Given the description of an element on the screen output the (x, y) to click on. 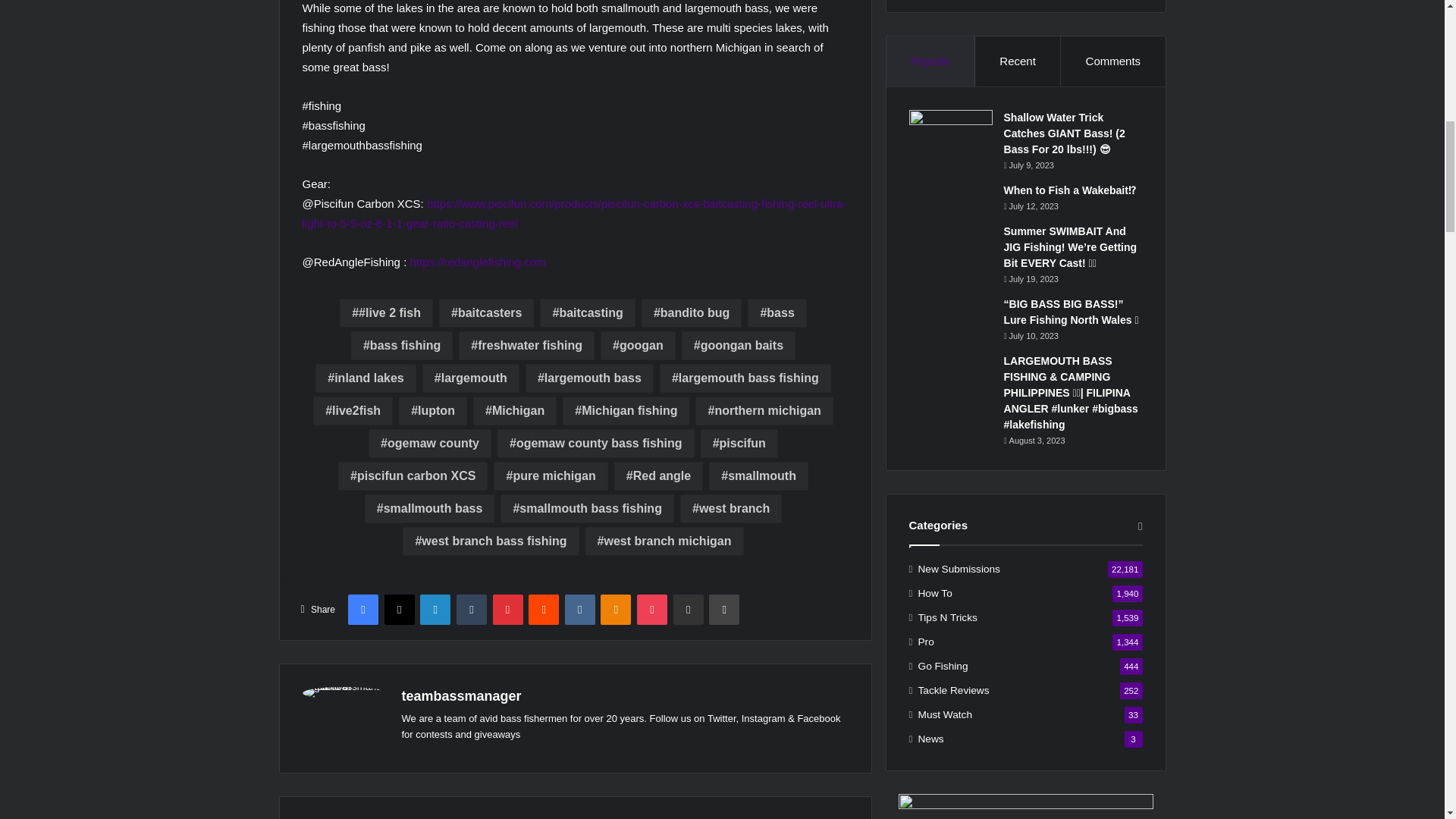
bass fishing (401, 345)
baitcasters (486, 312)
bass (777, 312)
goongan baits (737, 345)
bandito bug (691, 312)
googan (637, 345)
freshwater fishing (526, 345)
baitcasting (587, 312)
